Given the description of an element on the screen output the (x, y) to click on. 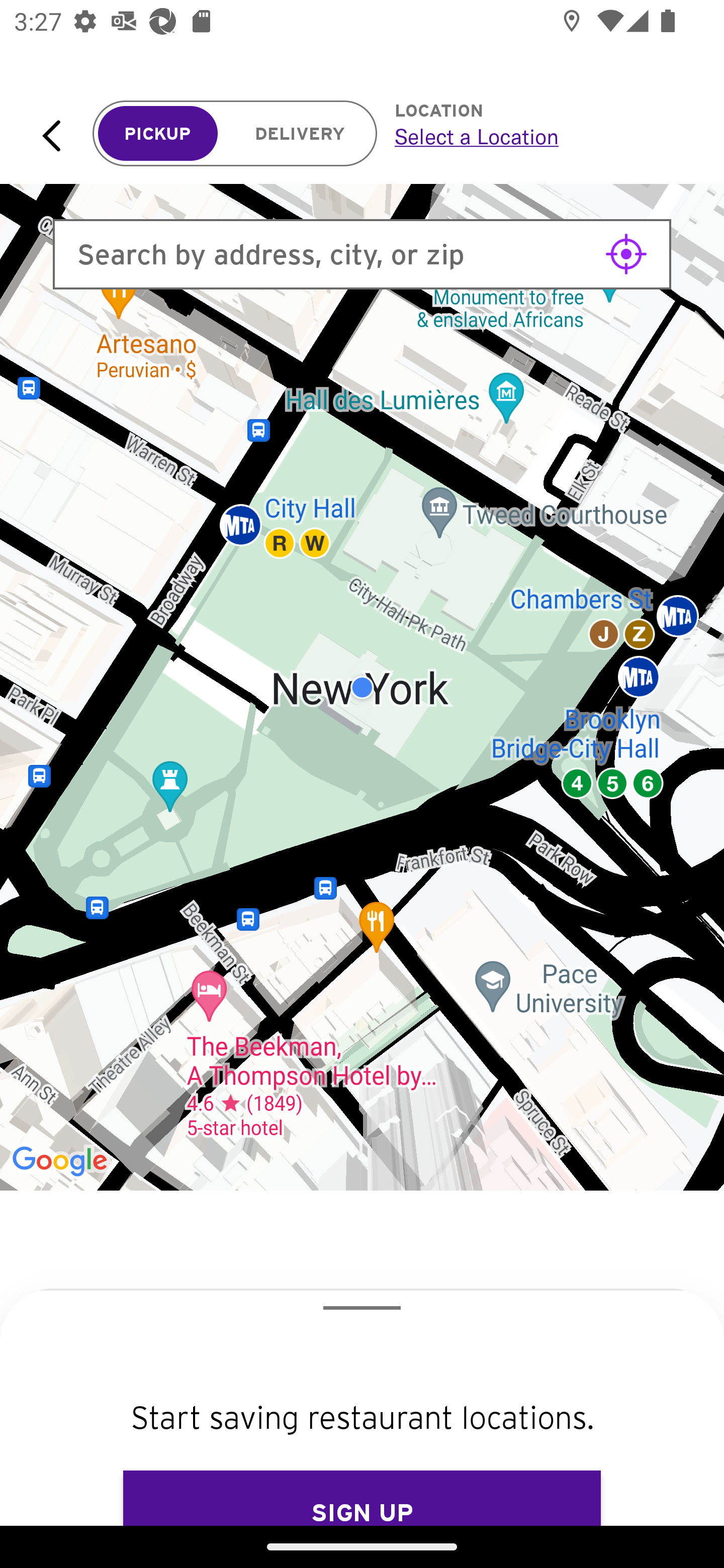
PICKUP (157, 133)
DELIVERY (299, 133)
Select a Location (536, 136)
Search by address, city, or zip (361, 254)
SIGN UP (361, 1497)
